Given the description of an element on the screen output the (x, y) to click on. 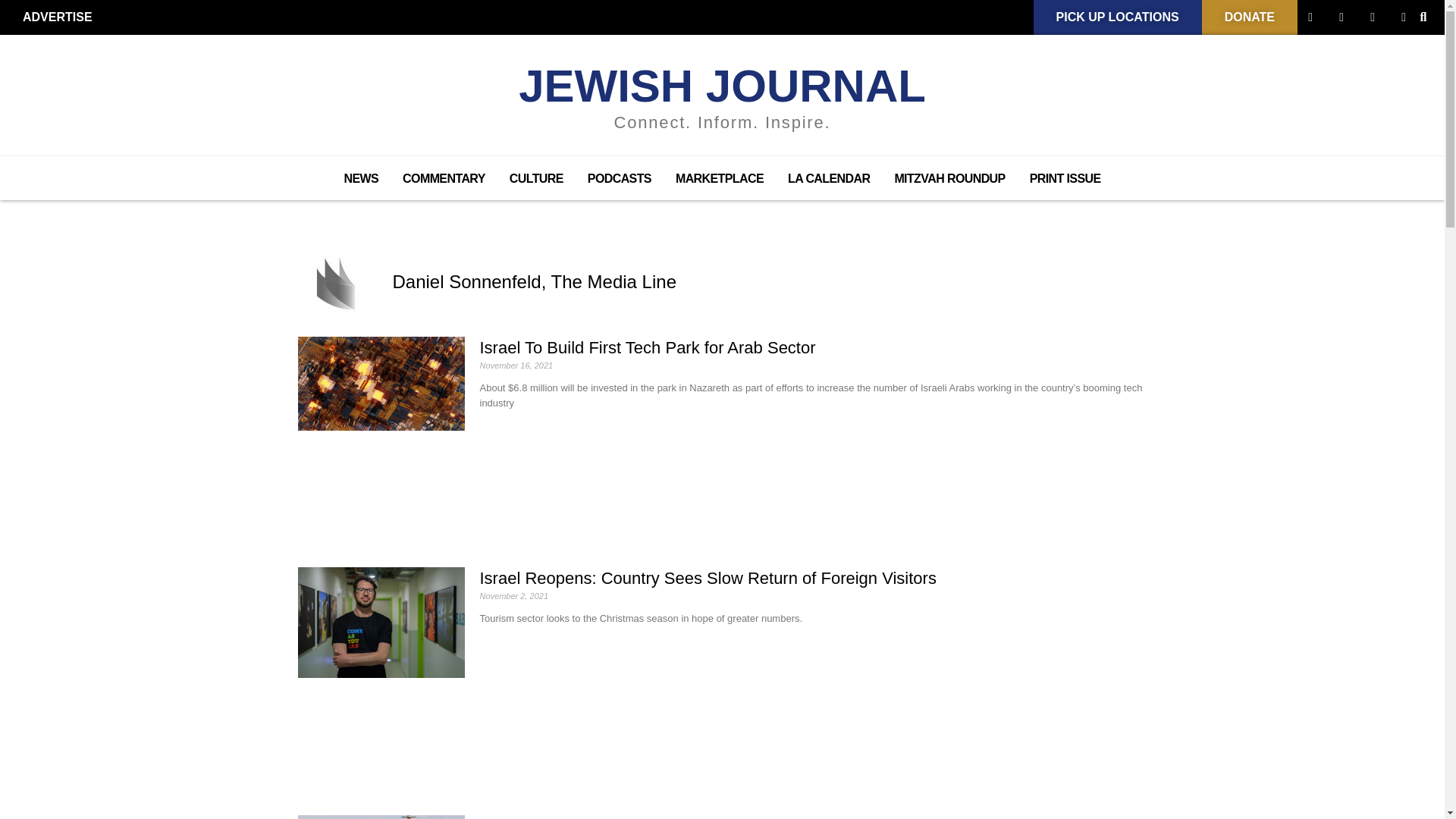
ADVERTISE (57, 17)
LA CALENDAR (829, 178)
PICK UP LOCATIONS (1117, 17)
COMMENTARY (443, 178)
DONATE (1249, 17)
JEWISH JOURNAL (722, 85)
PODCASTS (619, 178)
CULTURE (536, 178)
MARKETPLACE (719, 178)
NEWS (361, 178)
